Given the description of an element on the screen output the (x, y) to click on. 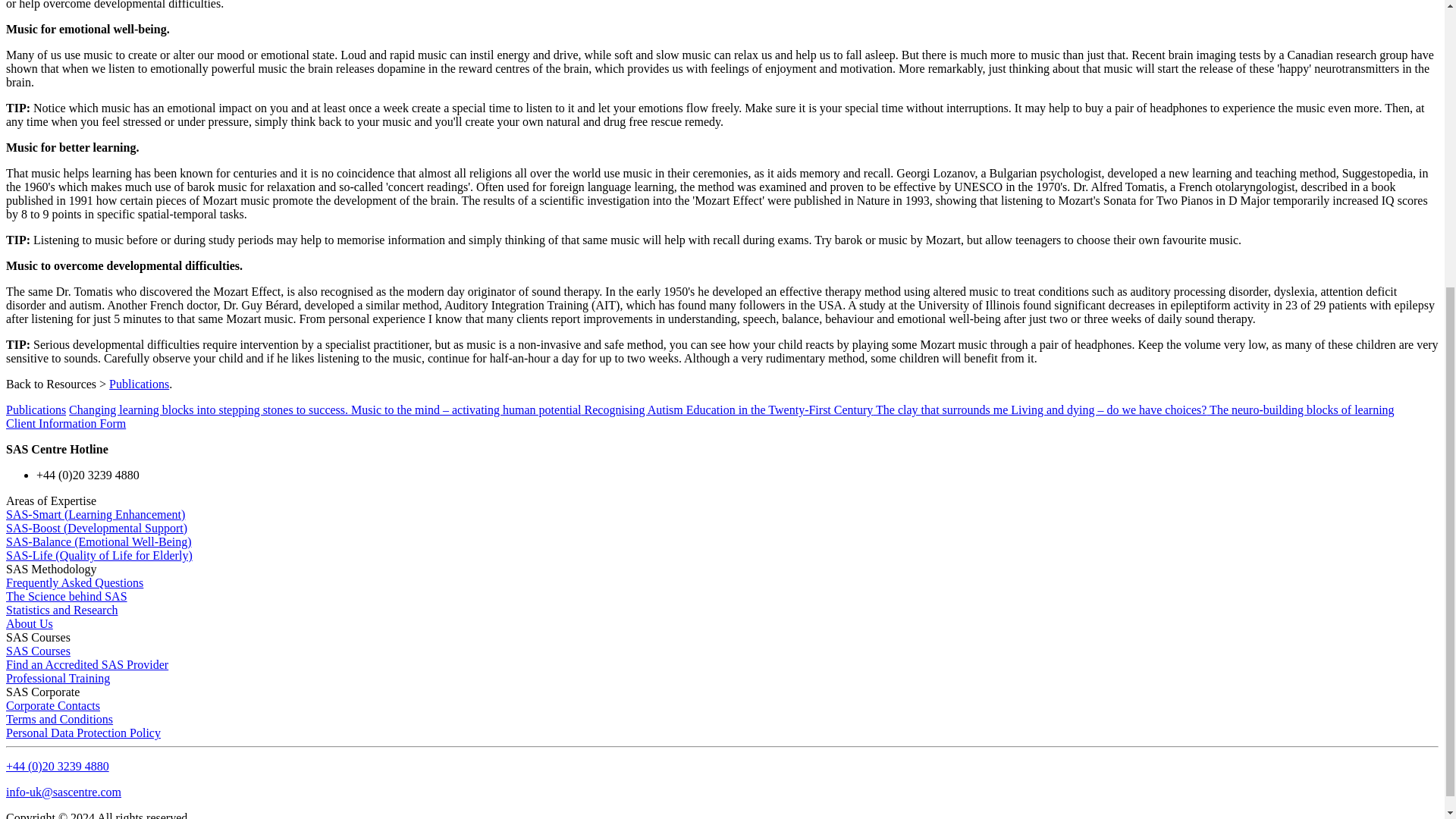
Publications (35, 409)
Recognising Autism (631, 409)
The clay that surrounds me (939, 409)
The neuro-building blocks of learning (1300, 409)
Changing learning blocks into stepping stones to success. (207, 409)
Frequently Asked Questions (73, 582)
Client Information Form (65, 422)
Education in the Twenty-First Century (777, 409)
Publications (138, 383)
